Given the description of an element on the screen output the (x, y) to click on. 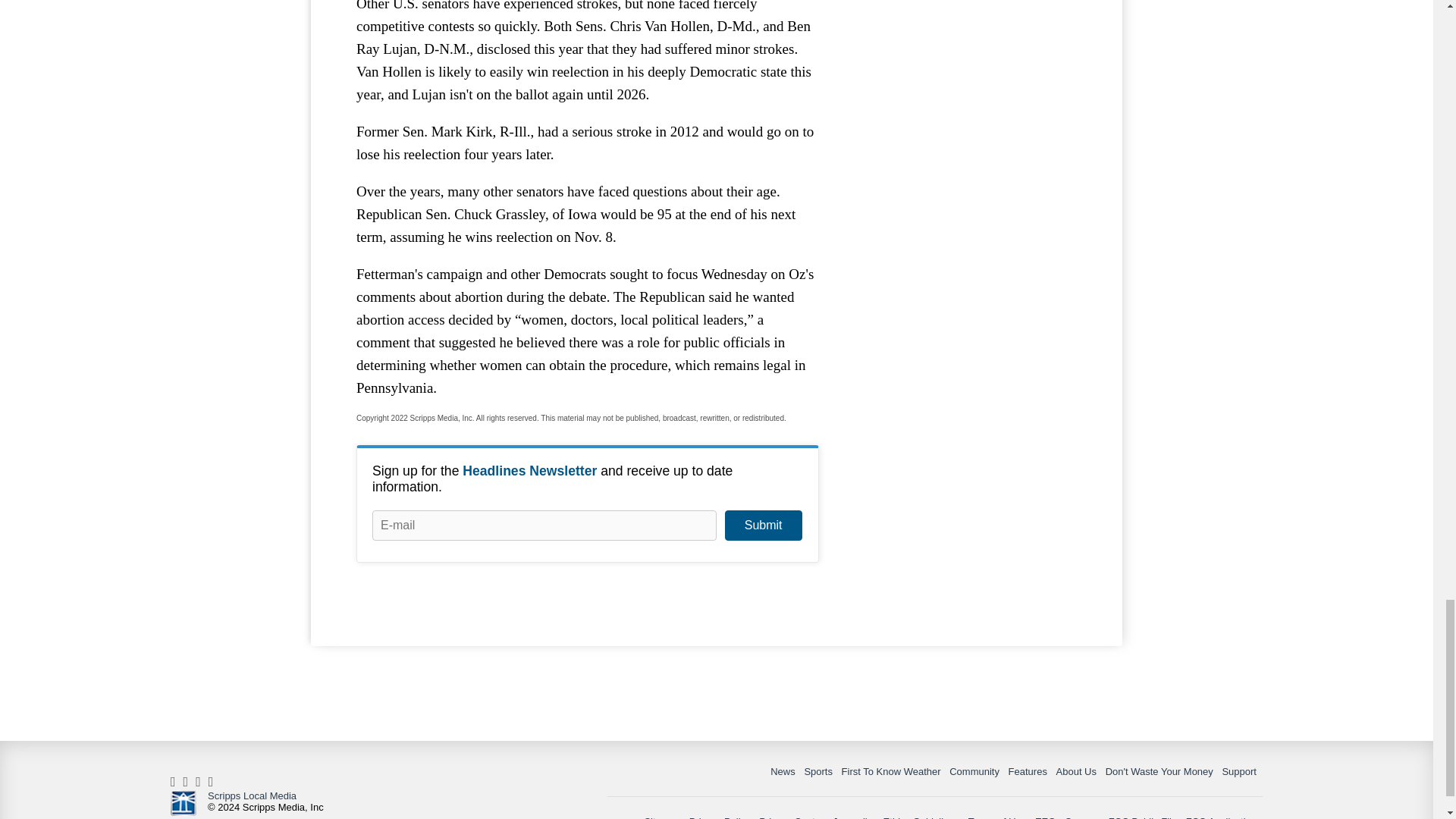
Submit (763, 525)
